Given the description of an element on the screen output the (x, y) to click on. 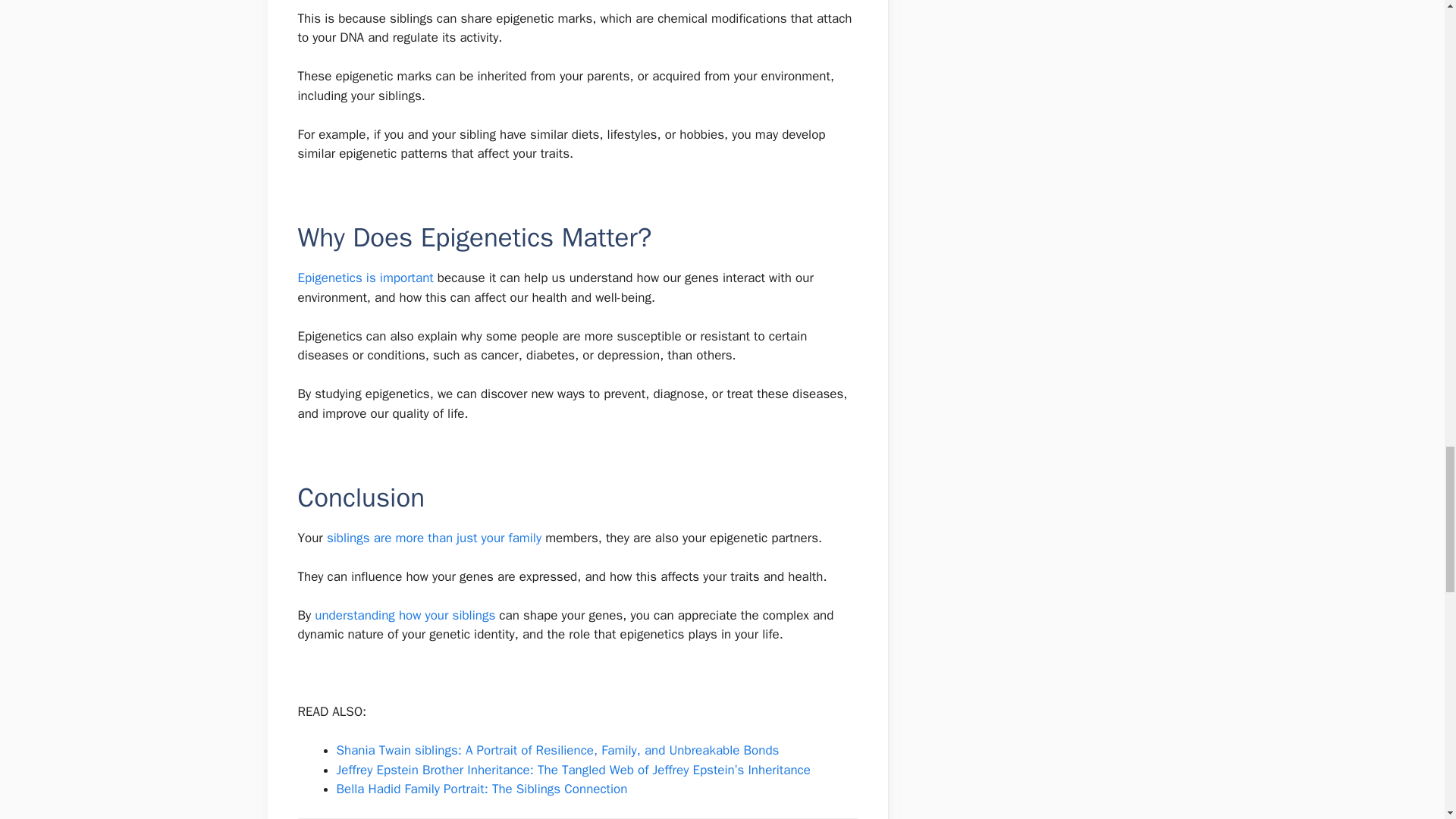
Bella Hadid Family Portrait: The Siblings Connection (481, 788)
siblings are more than just your family (433, 537)
Epigenetics is important (364, 277)
understanding how your siblings (404, 615)
